Given the description of an element on the screen output the (x, y) to click on. 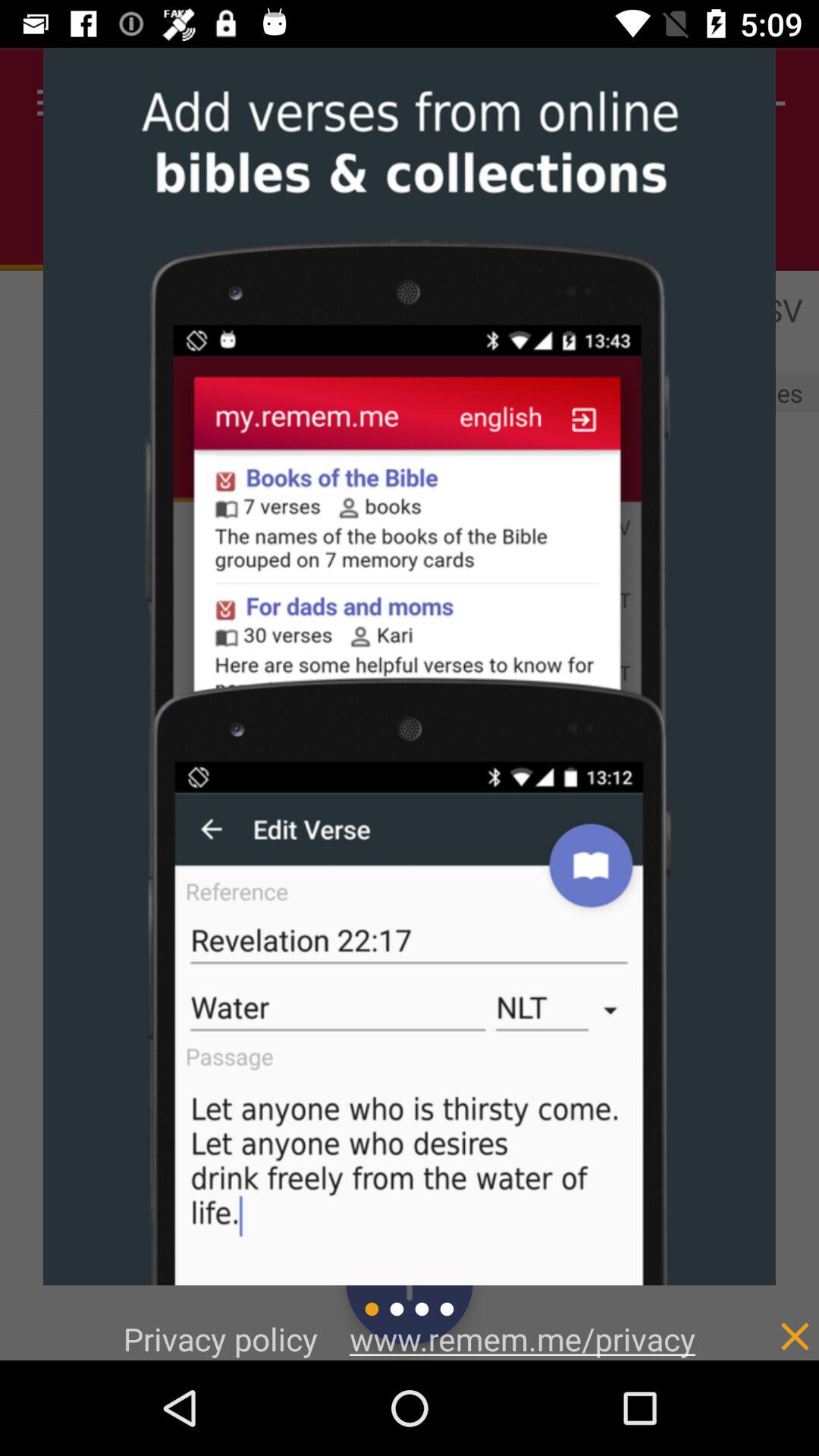
choose www remem me item (522, 1338)
